Given the description of an element on the screen output the (x, y) to click on. 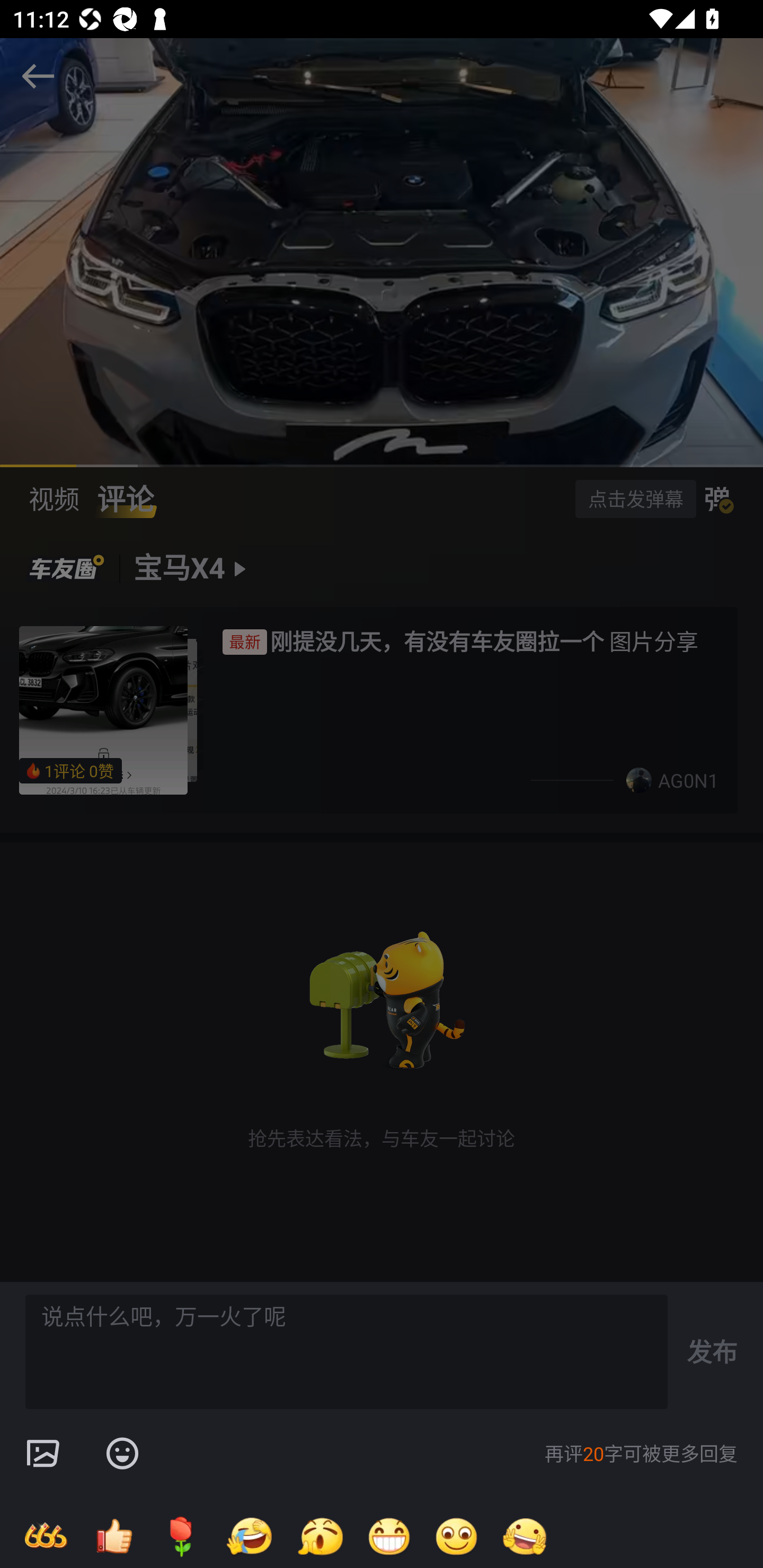
说点什么吧，万一火了呢 (346, 1352)
发布 (711, 1351)
 (42, 1453)
 (122, 1453)
再评20字可被更多回复 (640, 1453)
[666] (45, 1535)
[赞] (112, 1535)
[玫瑰] (180, 1535)
[我想静静] (249, 1535)
[小鼓掌] (320, 1535)
[呲牙] (389, 1535)
[微笑] (456, 1535)
[耶] (524, 1535)
